Given the description of an element on the screen output the (x, y) to click on. 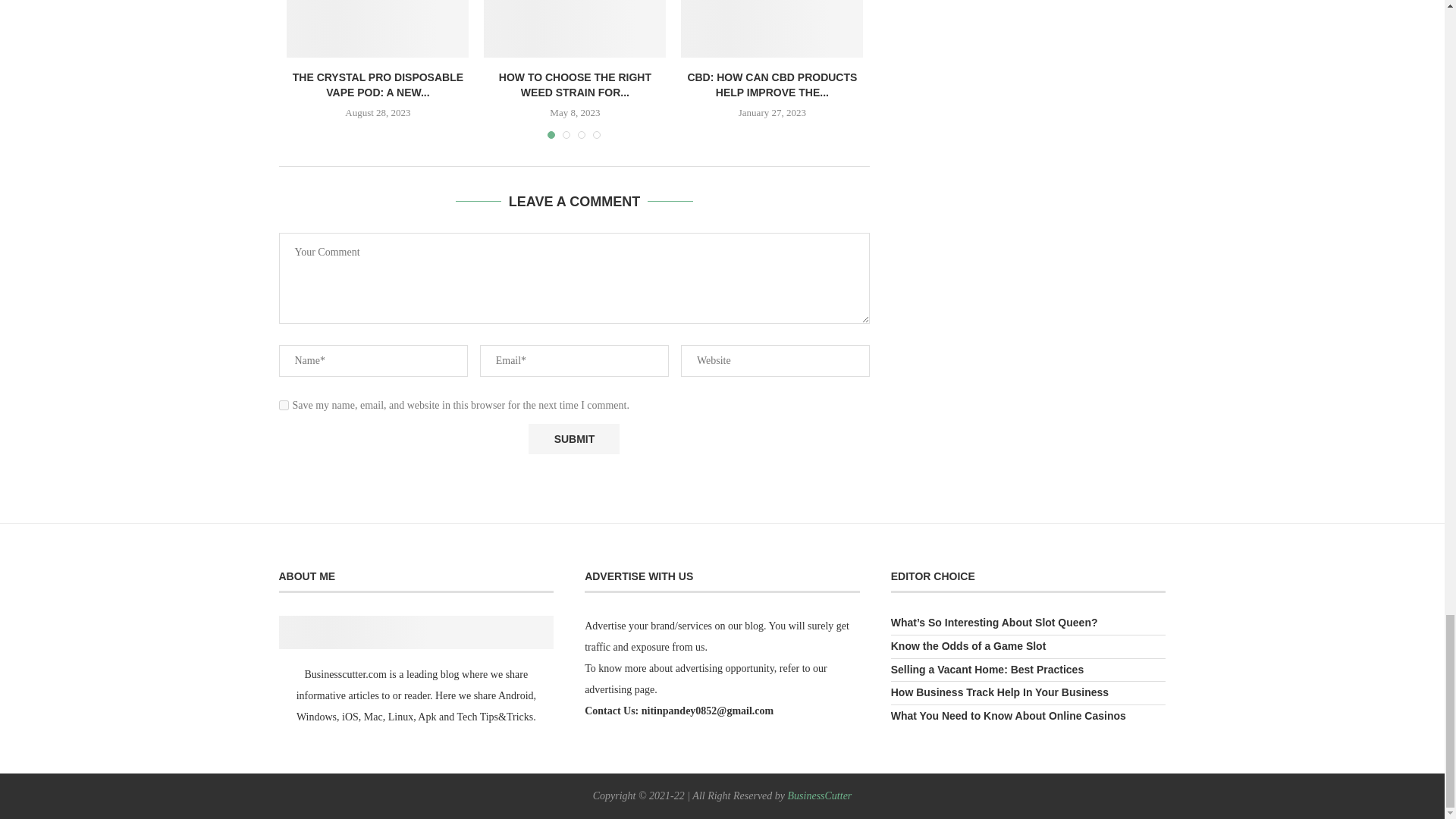
Submit (574, 439)
How to Choose the Right Weed Strain for You? (574, 28)
yes (283, 405)
